Given the description of an element on the screen output the (x, y) to click on. 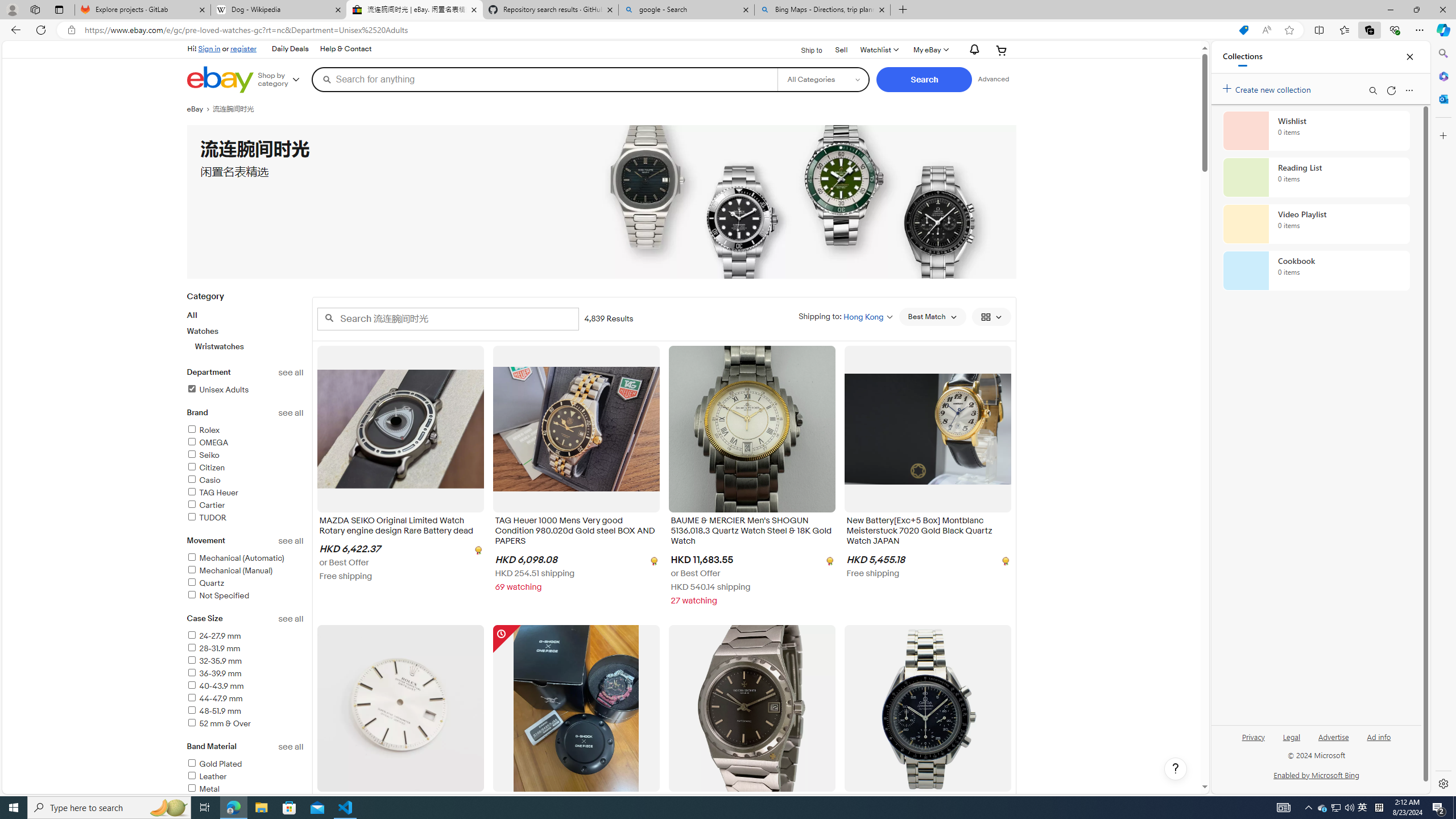
AllWatchesWristwatches (245, 330)
Dog - Wikipedia (277, 9)
CategoryAllWatchesWristwatches (245, 327)
Cookbook collection, 0 items (1316, 270)
eBay Home (219, 79)
Create new collection (1268, 87)
See all brand refinements (291, 412)
